Given the description of an element on the screen output the (x, y) to click on. 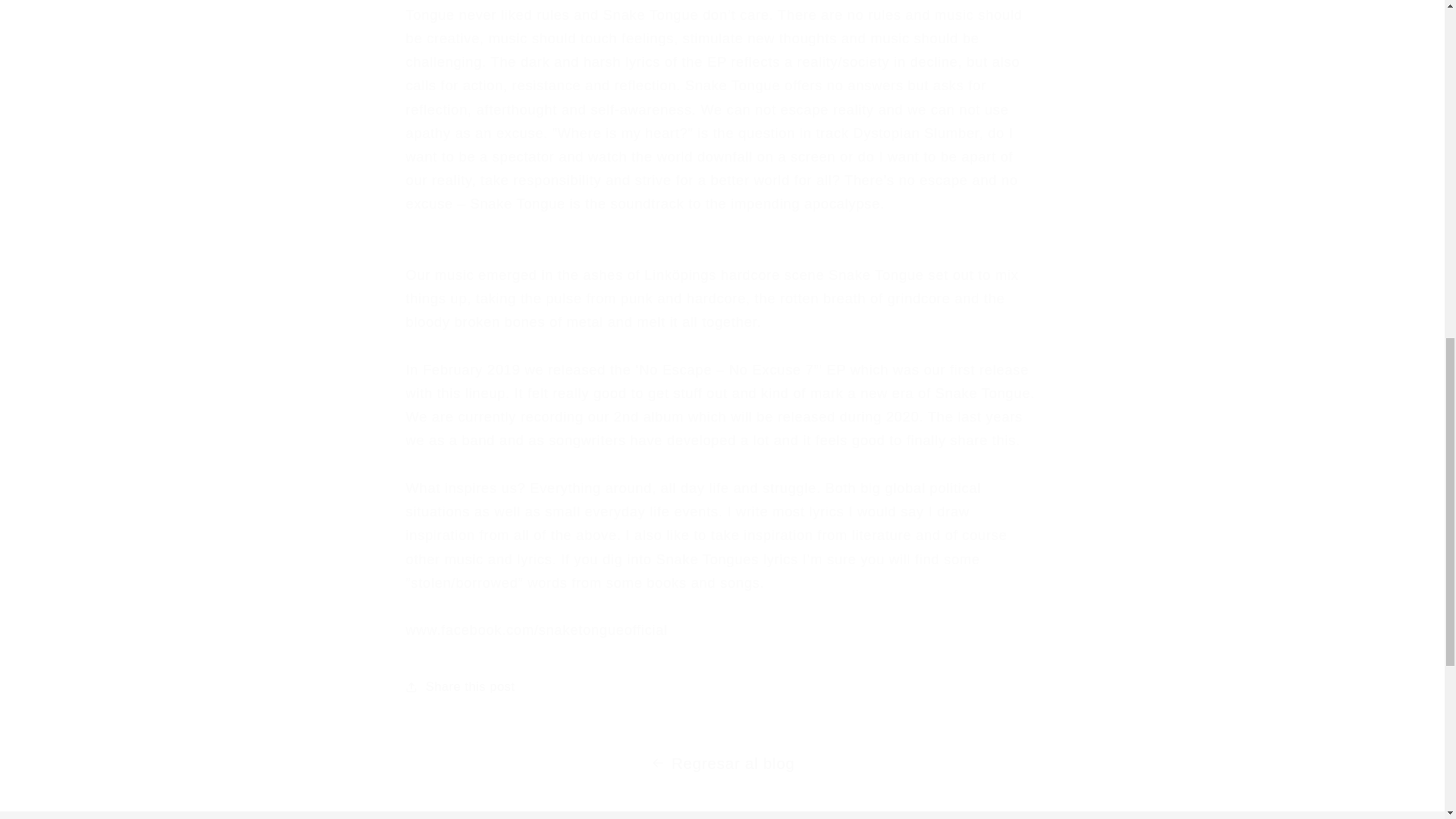
Share this post (722, 687)
